Given the description of an element on the screen output the (x, y) to click on. 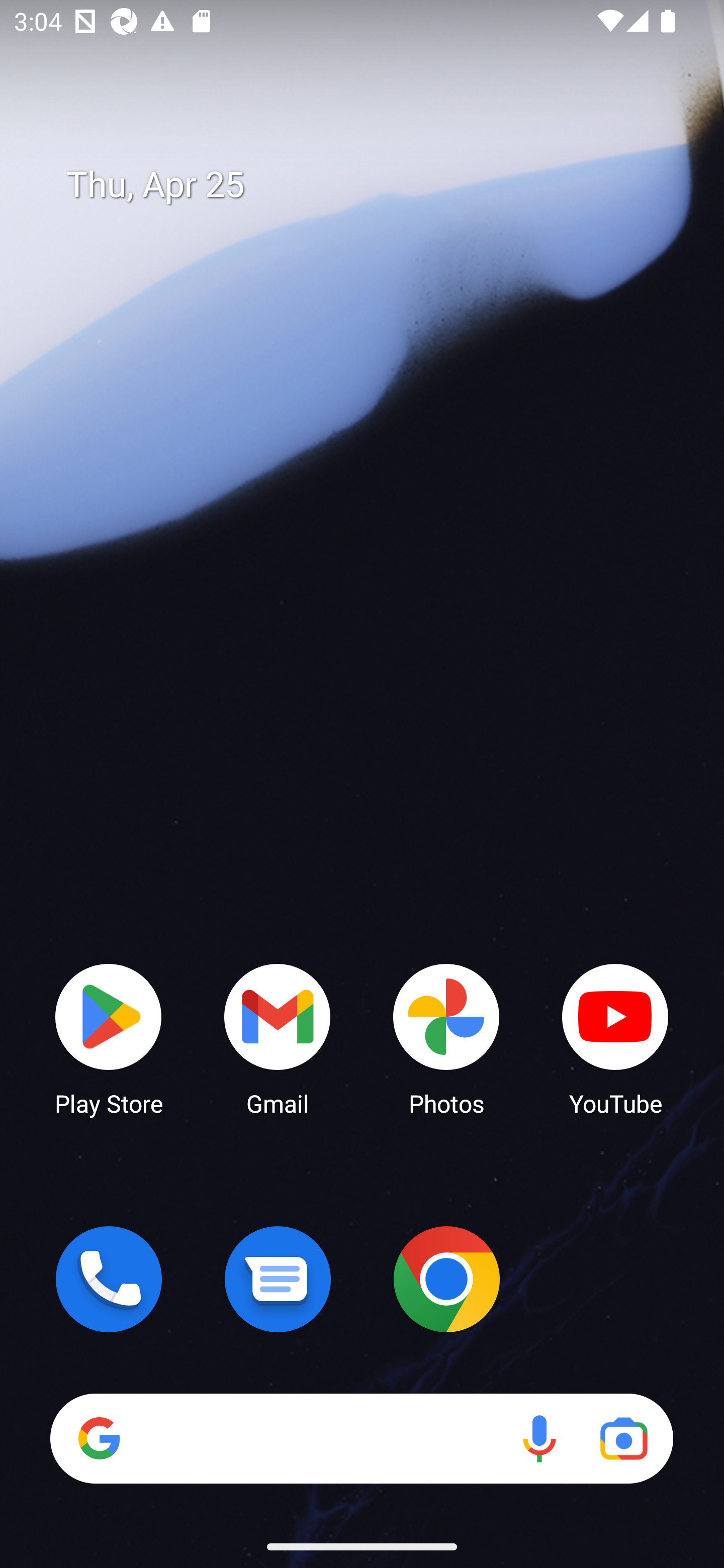
Thu, Apr 25 (375, 184)
Play Store (108, 1038)
Gmail (277, 1038)
Photos (445, 1038)
YouTube (615, 1038)
Phone (108, 1279)
Messages (277, 1279)
Chrome (446, 1279)
Search Voice search Google Lens (361, 1438)
Voice search (539, 1438)
Google Lens (623, 1438)
